Given the description of an element on the screen output the (x, y) to click on. 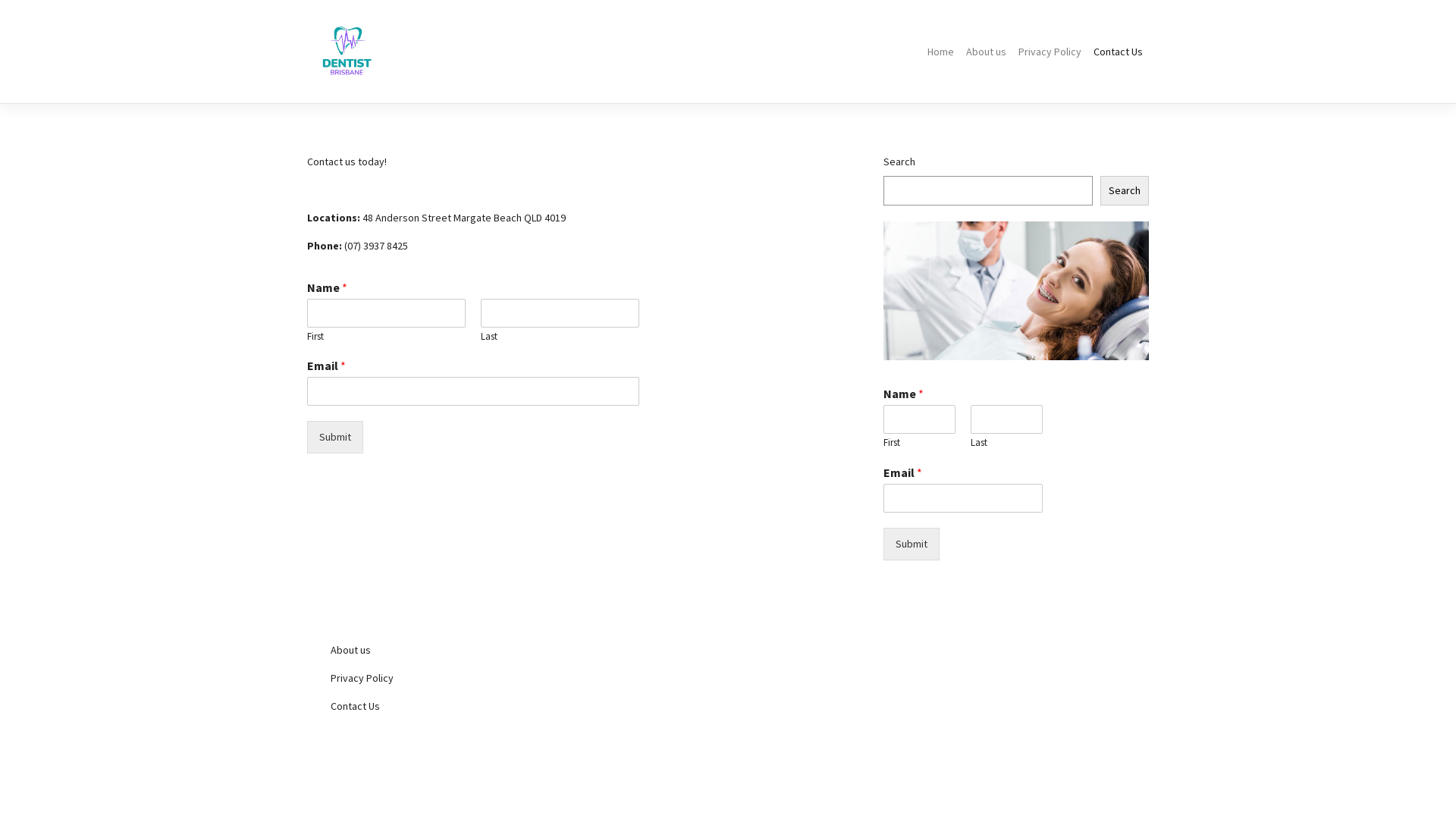
Submit Element type: text (911, 543)
Privacy Policy Element type: text (1049, 51)
Contact Us Element type: text (1117, 51)
About us Element type: text (986, 51)
Submit Element type: text (335, 436)
About us Element type: text (447, 650)
Privacy Policy Element type: text (447, 678)
Search Element type: text (1124, 190)
Contact Us Element type: text (447, 706)
Home Element type: text (940, 51)
